Given the description of an element on the screen output the (x, y) to click on. 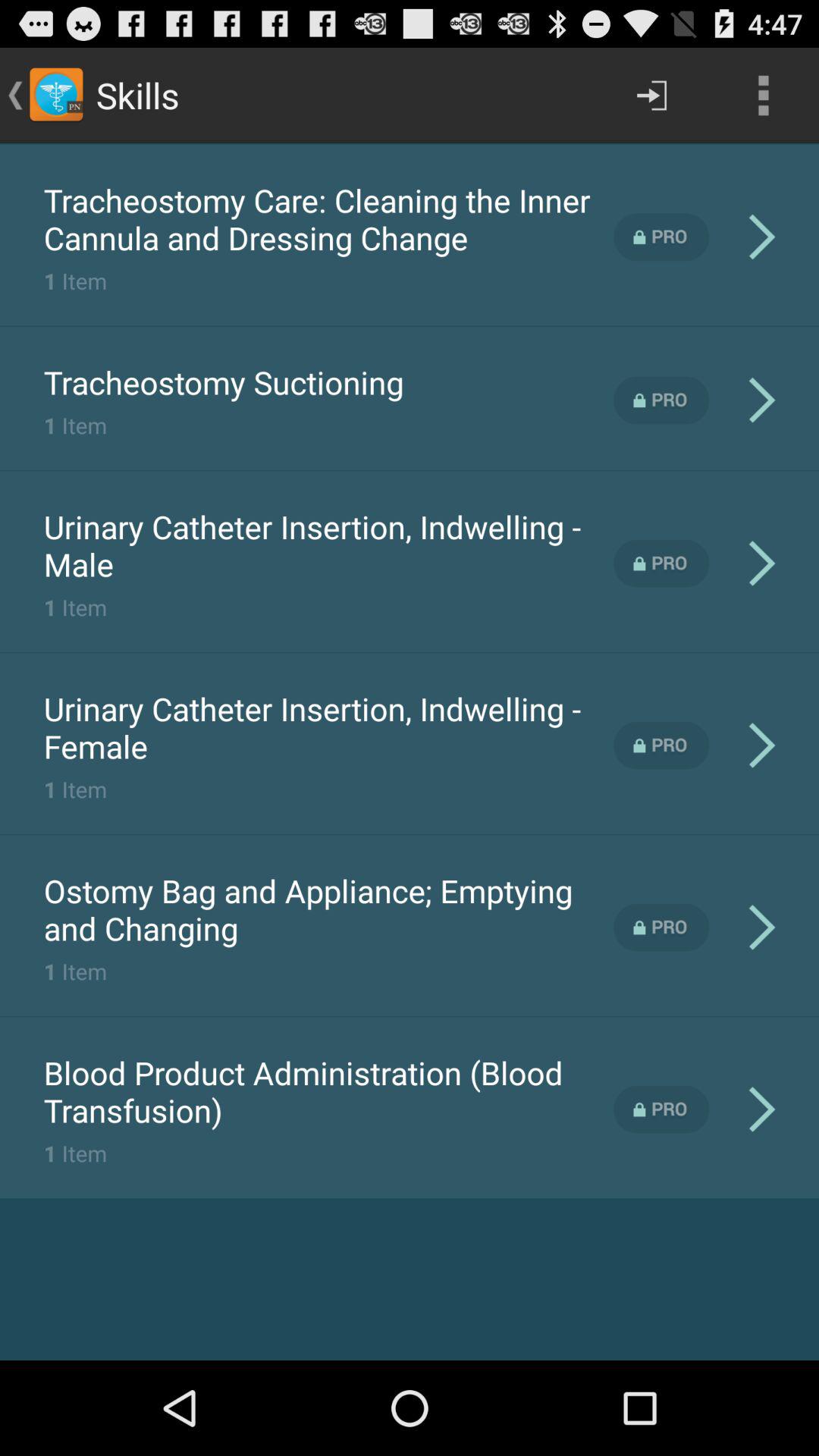
tap the icon above the 1 item item (328, 1091)
